Given the description of an element on the screen output the (x, y) to click on. 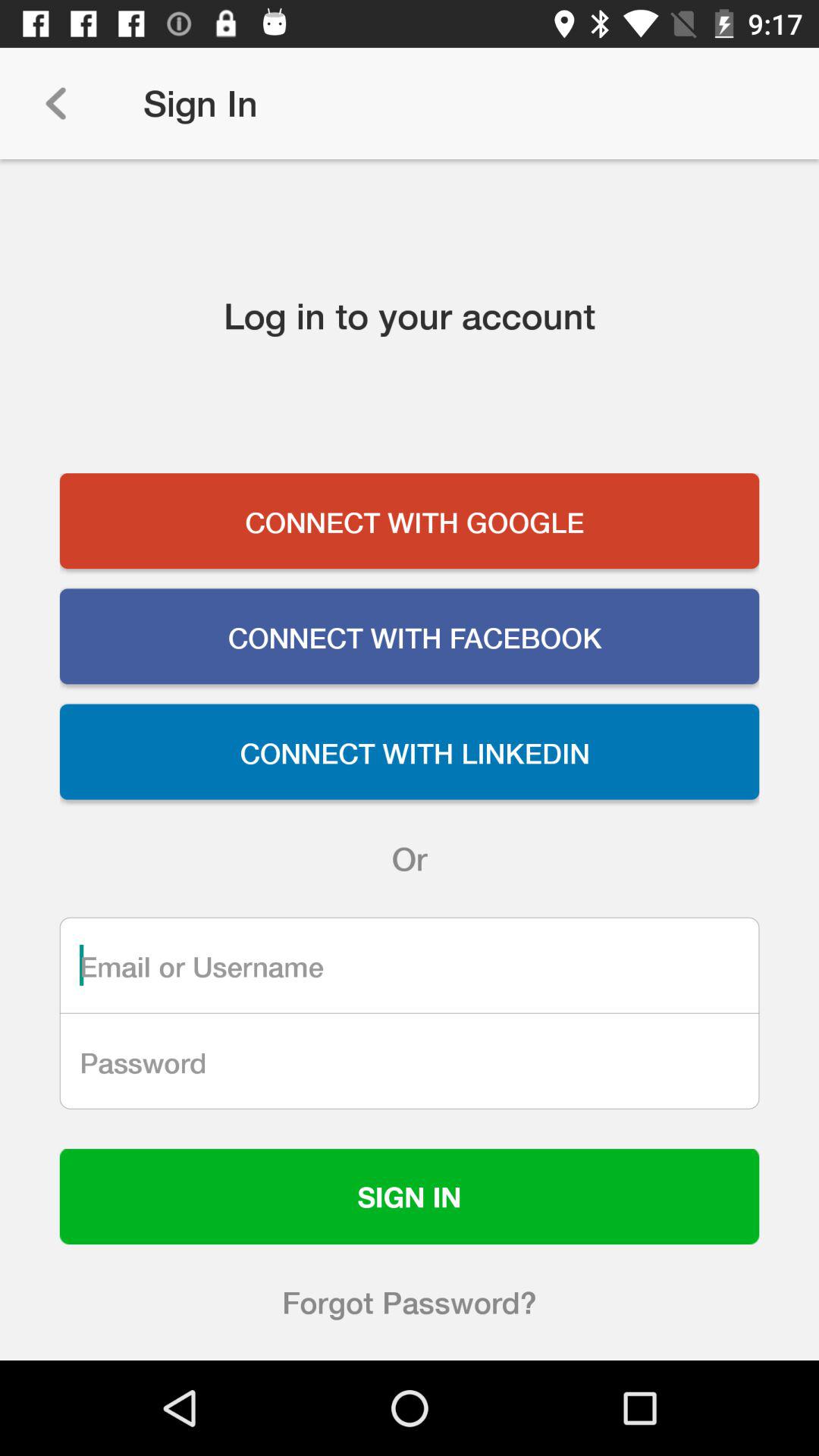
flip until the forgot password? (409, 1302)
